Given the description of an element on the screen output the (x, y) to click on. 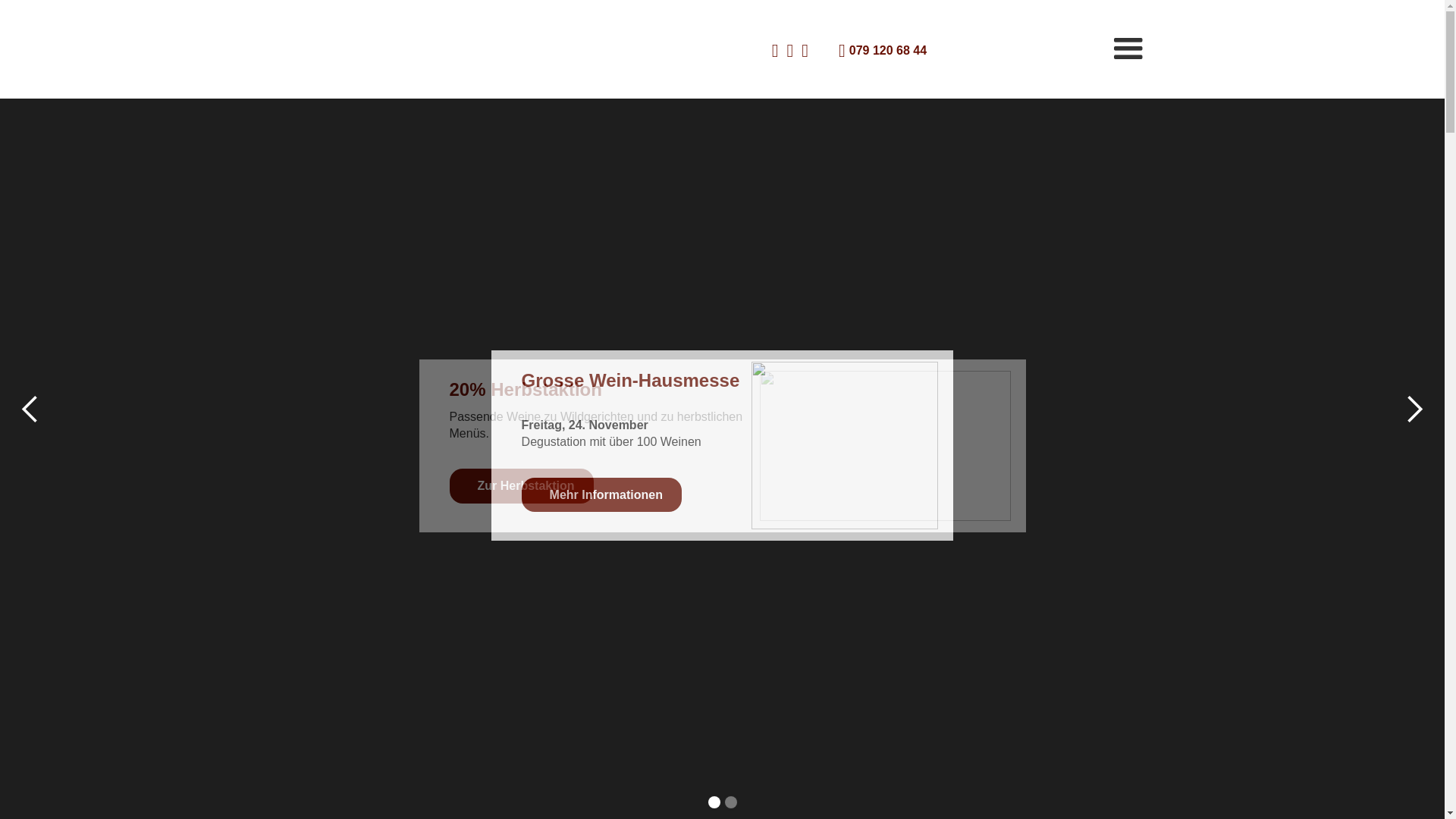
Mehr Informationen Element type: text (601, 494)
Zur Herbstaktion Element type: text (520, 485)
